Given the description of an element on the screen output the (x, y) to click on. 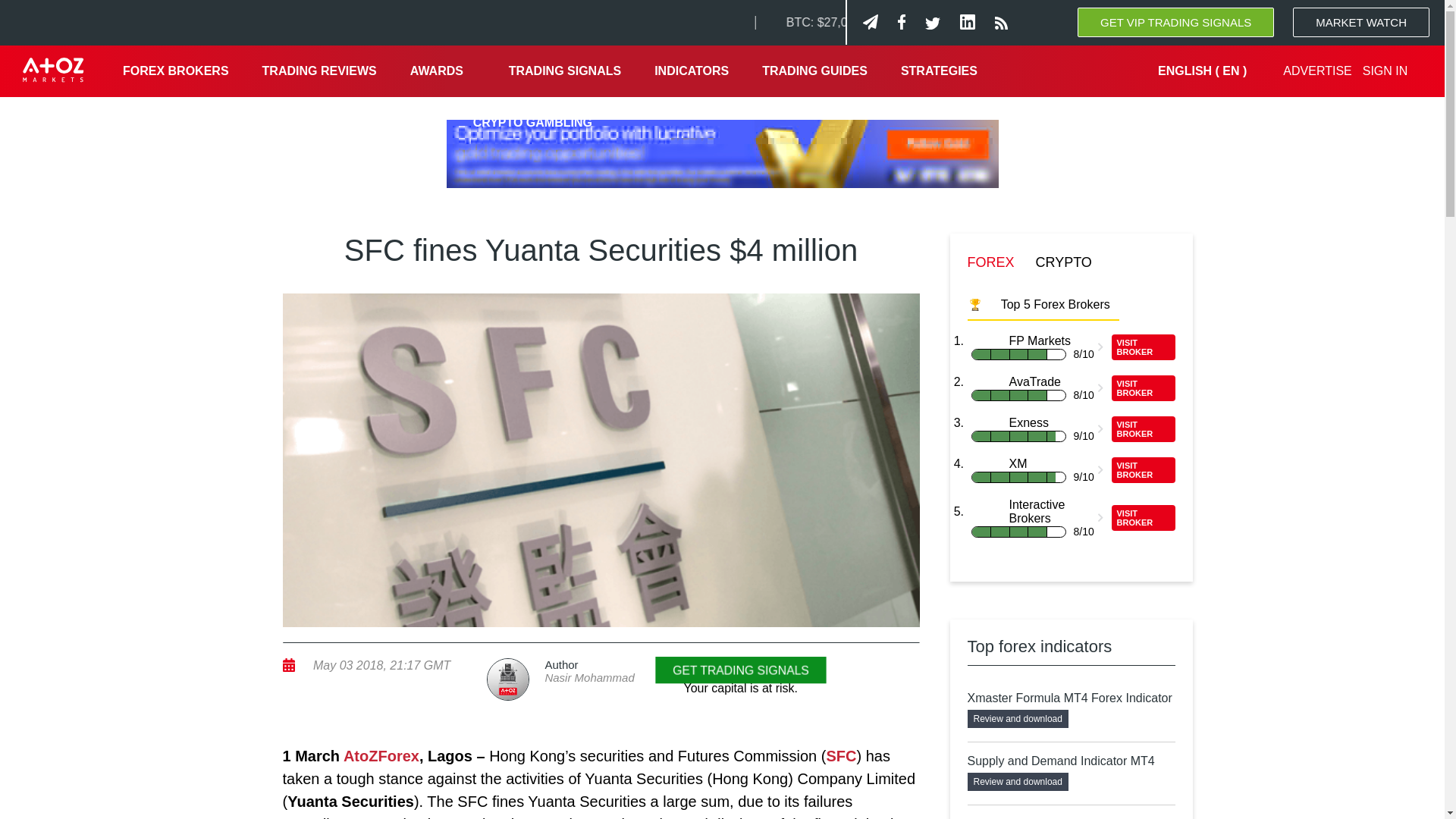
FOREX BROKERS (176, 71)
TRADING REVIEWS (319, 71)
MARKET WATCH (1360, 21)
